Given the description of an element on the screen output the (x, y) to click on. 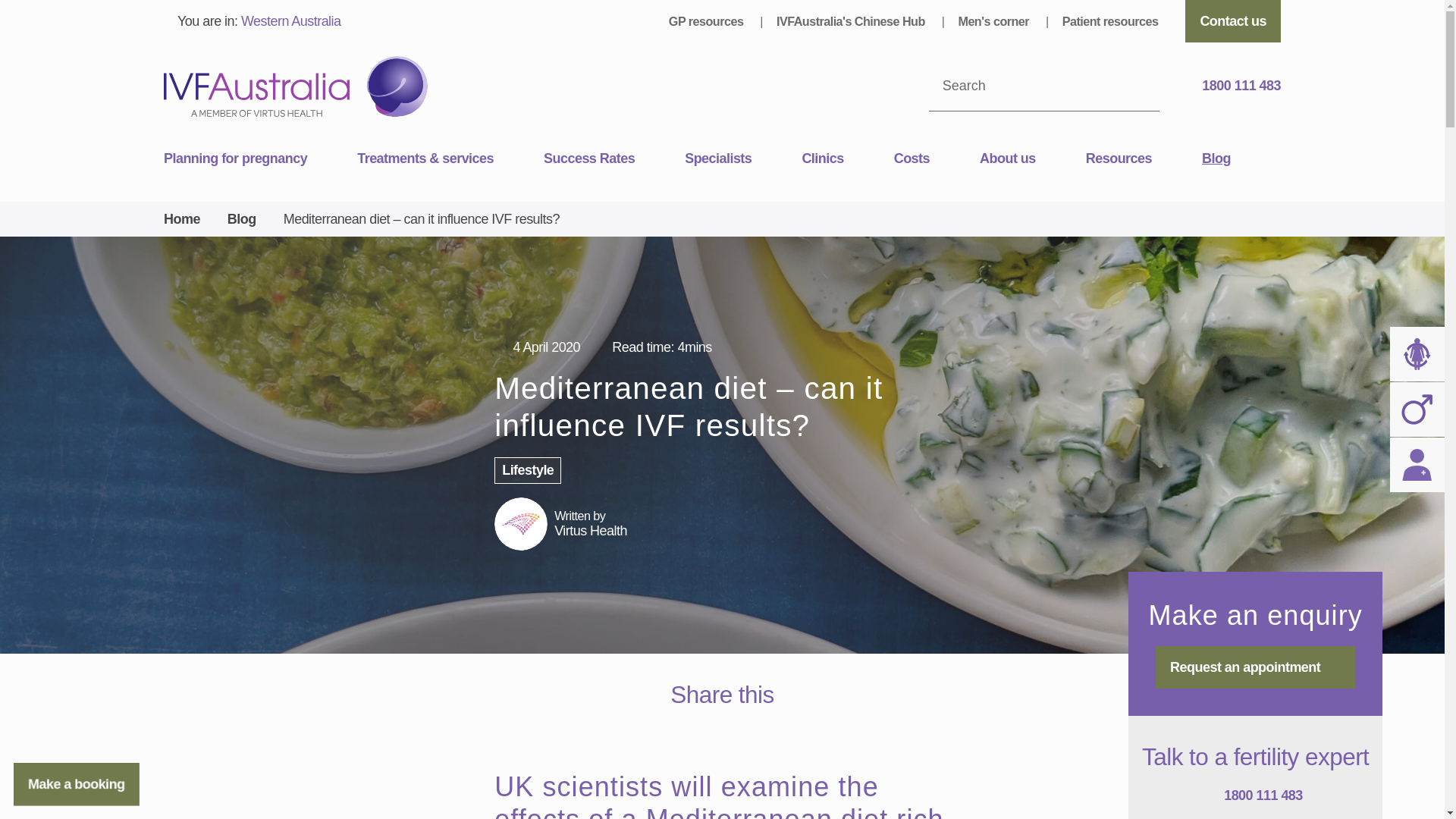
1800 111 483 (1233, 85)
Opens in a new tab (738, 726)
Opens in a new tab (705, 726)
Planning for pregnancy (259, 159)
Men's corner (995, 20)
Opens in a new tab (772, 726)
Contact us (1233, 21)
GP resources (706, 20)
IVFAustralia's Chinese Hub (852, 20)
